Given the description of an element on the screen output the (x, y) to click on. 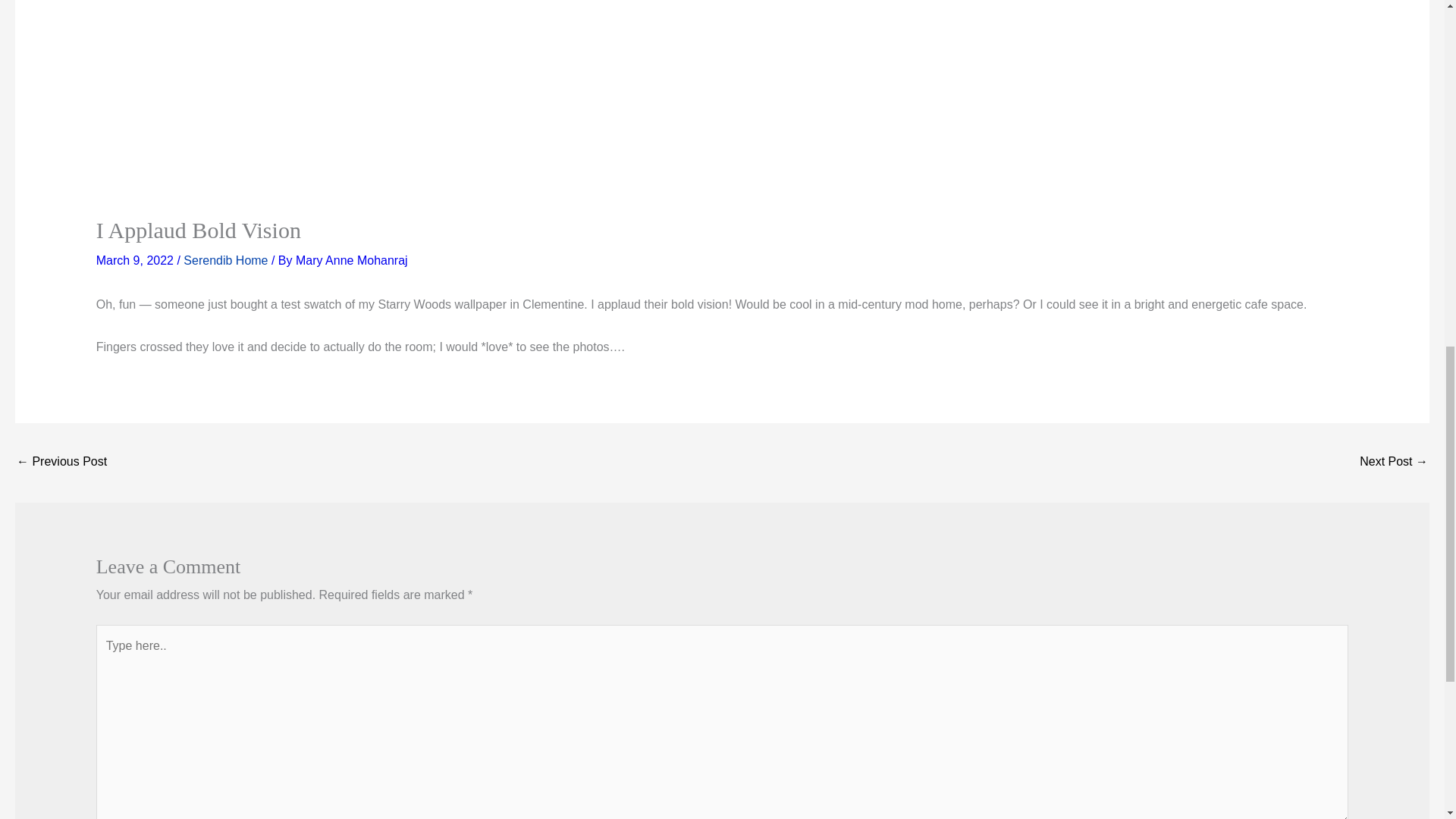
Building Cardio Capacity (1393, 462)
Hush Is Now Live on Tor.com (61, 462)
View all posts by Mary Anne Mohanraj (351, 259)
